Given the description of an element on the screen output the (x, y) to click on. 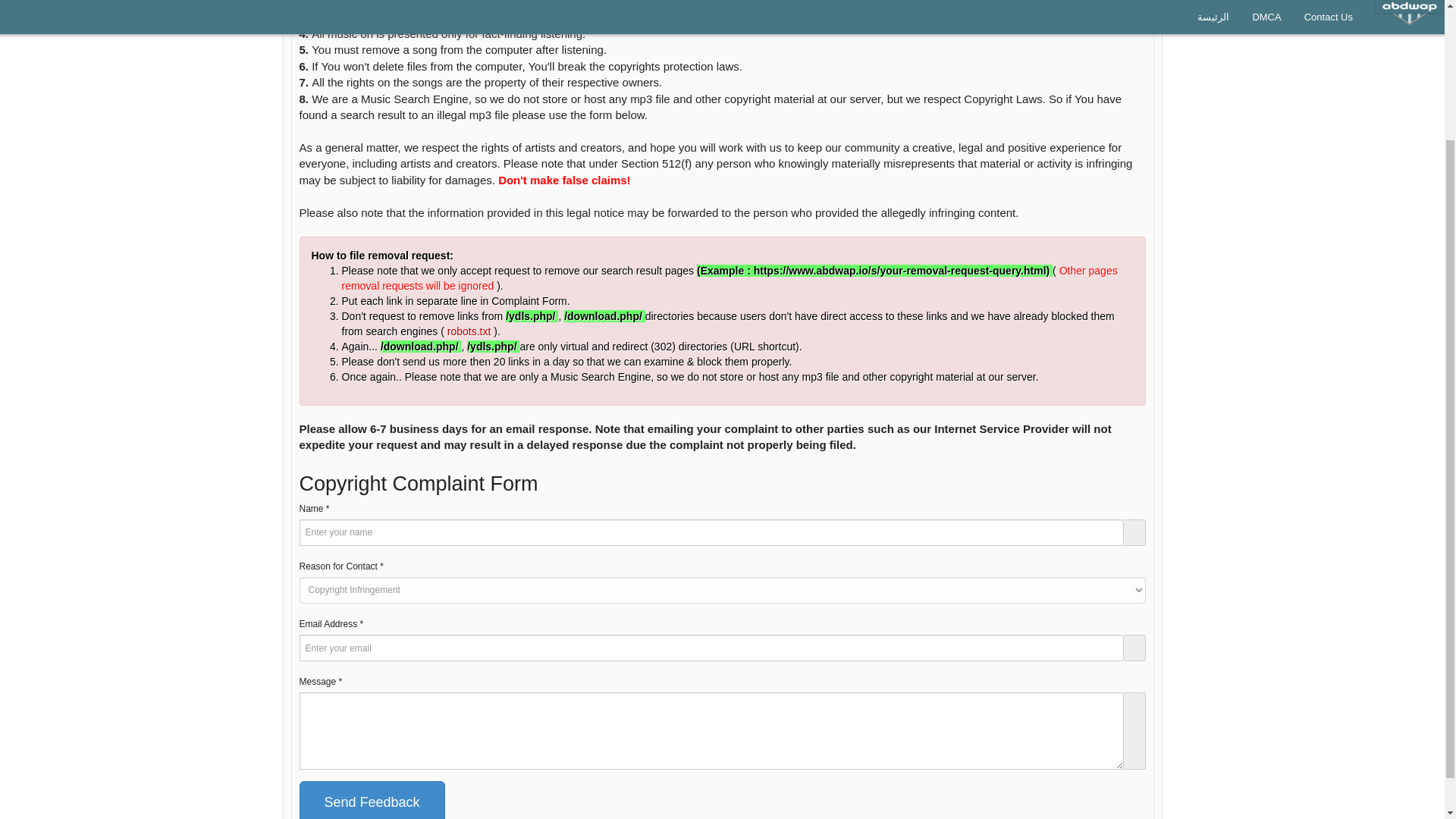
robots.txt (469, 331)
